Given the description of an element on the screen output the (x, y) to click on. 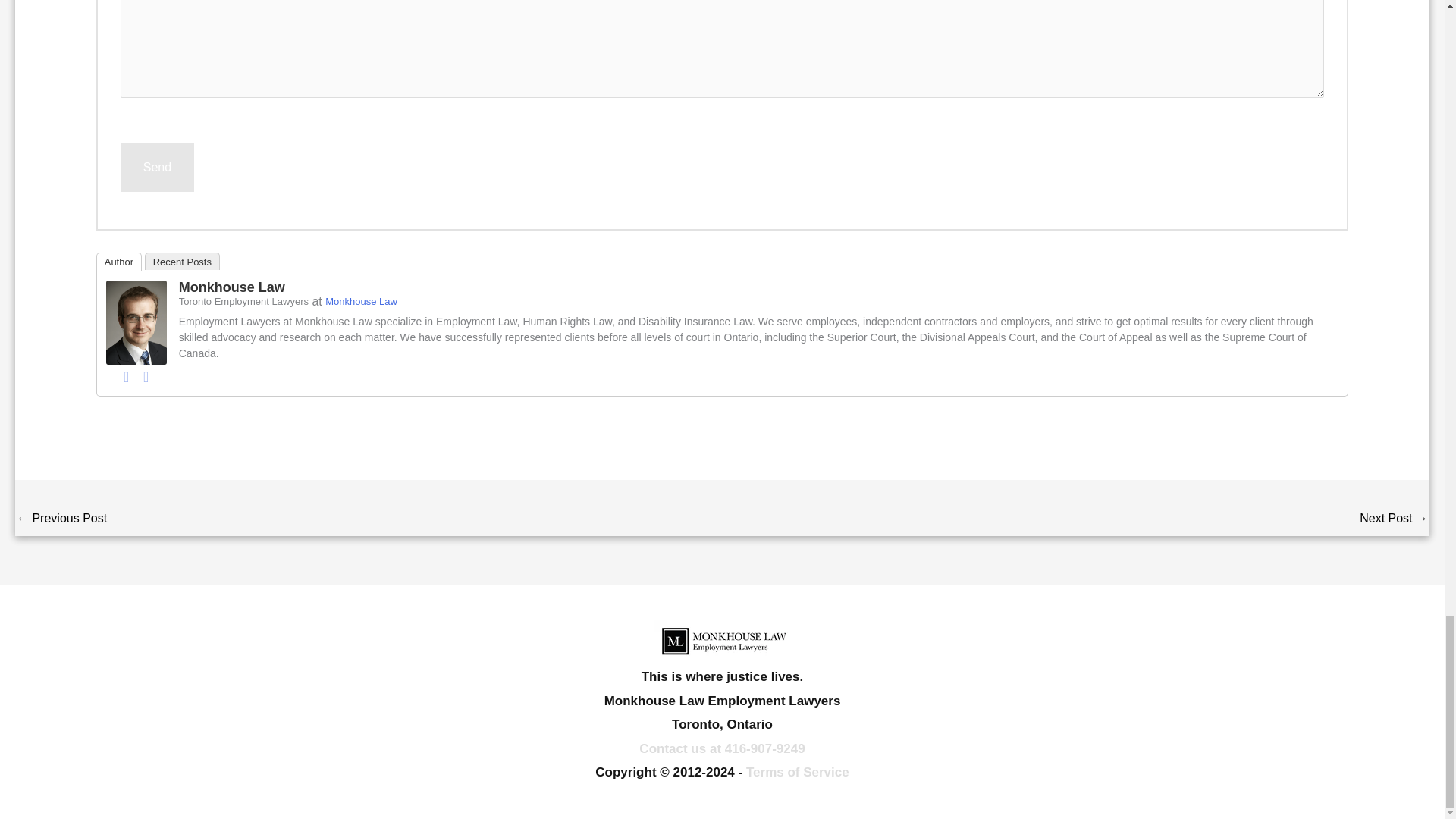
Wrongful Dismissal and Mitigation (61, 519)
Send (156, 167)
Facebook (126, 376)
Twitter (145, 376)
Monkhouse Law (136, 321)
